Given the description of an element on the screen output the (x, y) to click on. 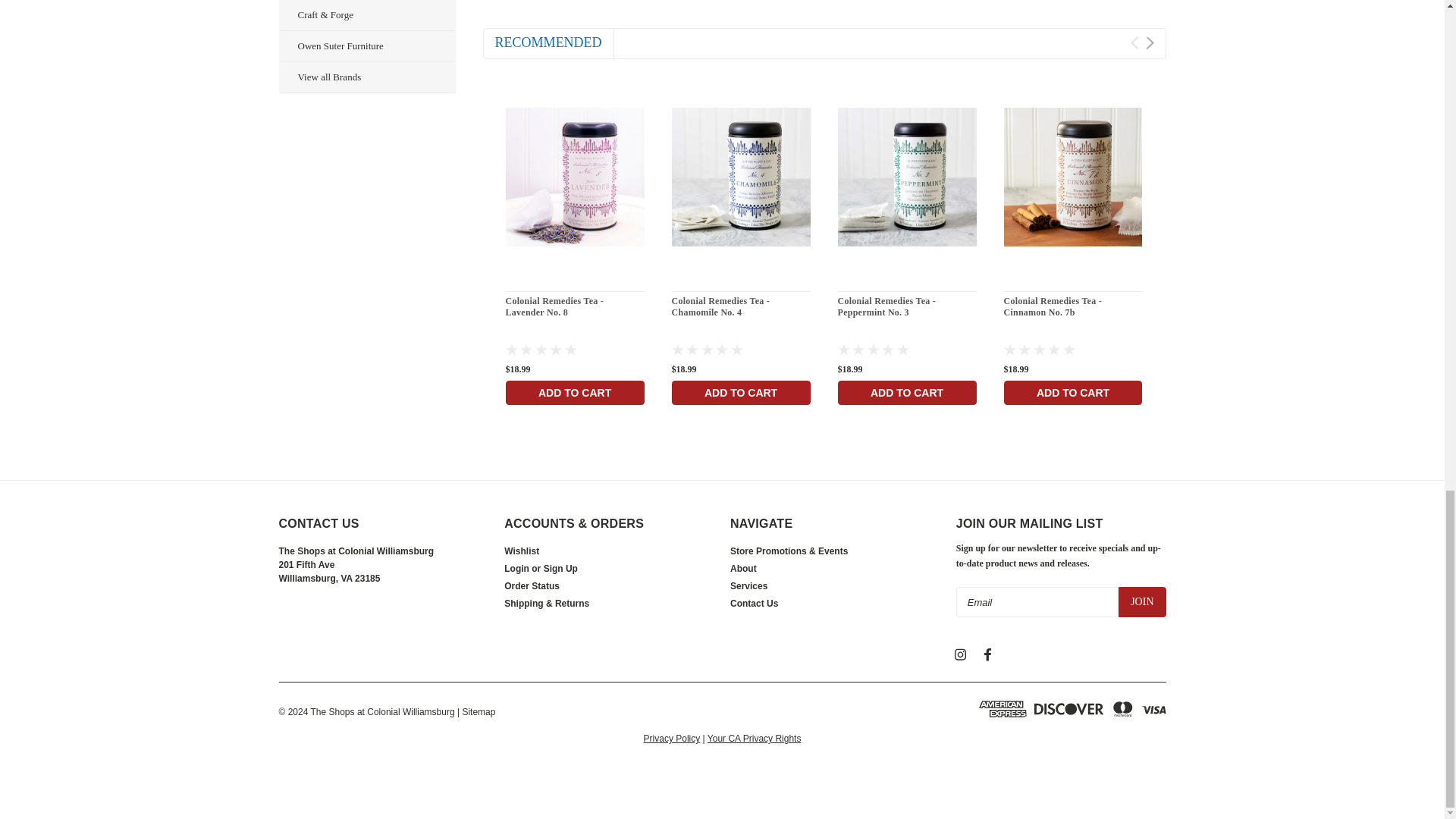
Join (1142, 602)
